Given the description of an element on the screen output the (x, y) to click on. 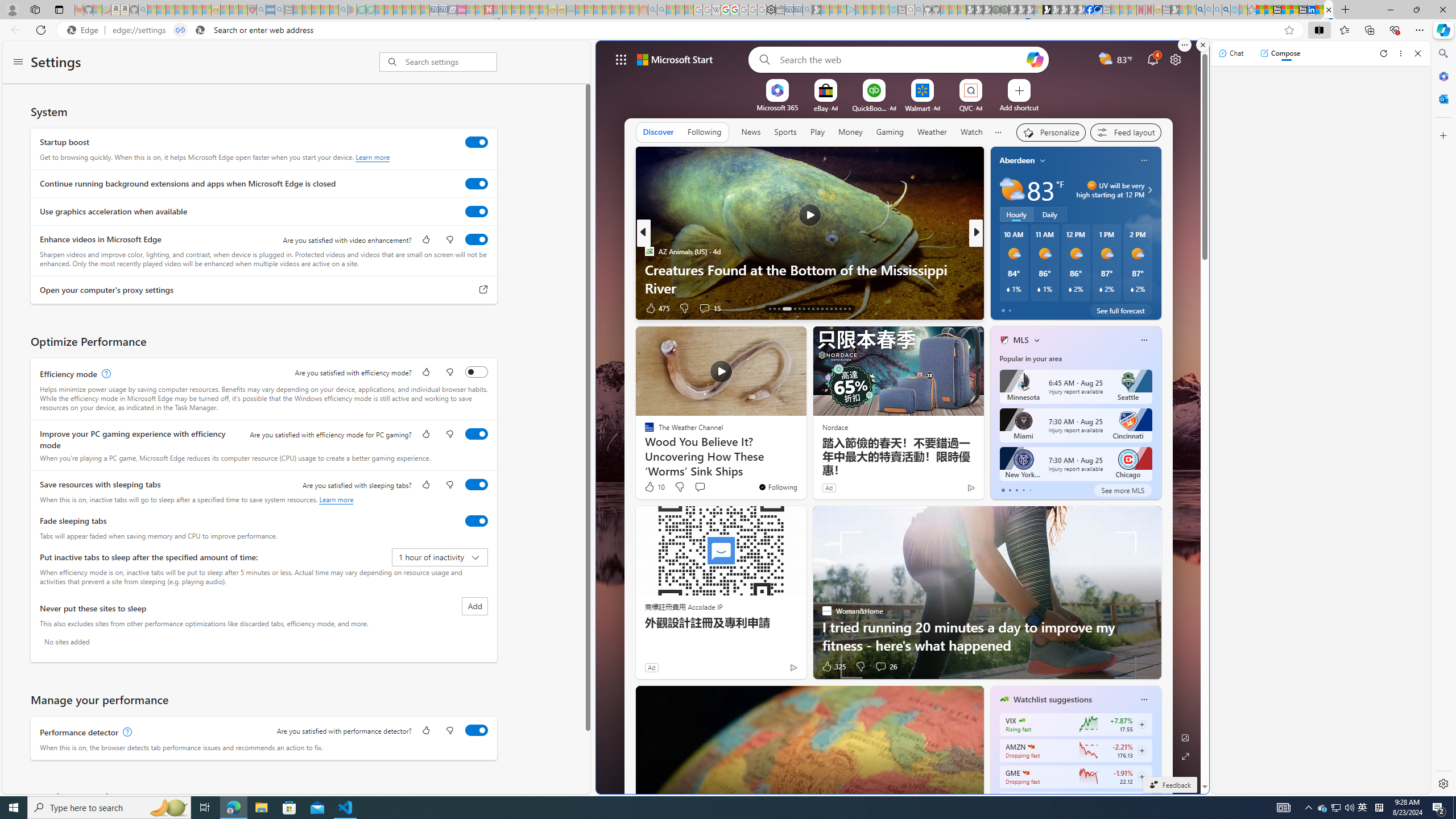
View comments 18 Comment (1054, 307)
Body Network (999, 269)
View comments 2 Comment (1054, 307)
Google Chrome Internet Browser Download - Search Images (1225, 9)
